Given the description of an element on the screen output the (x, y) to click on. 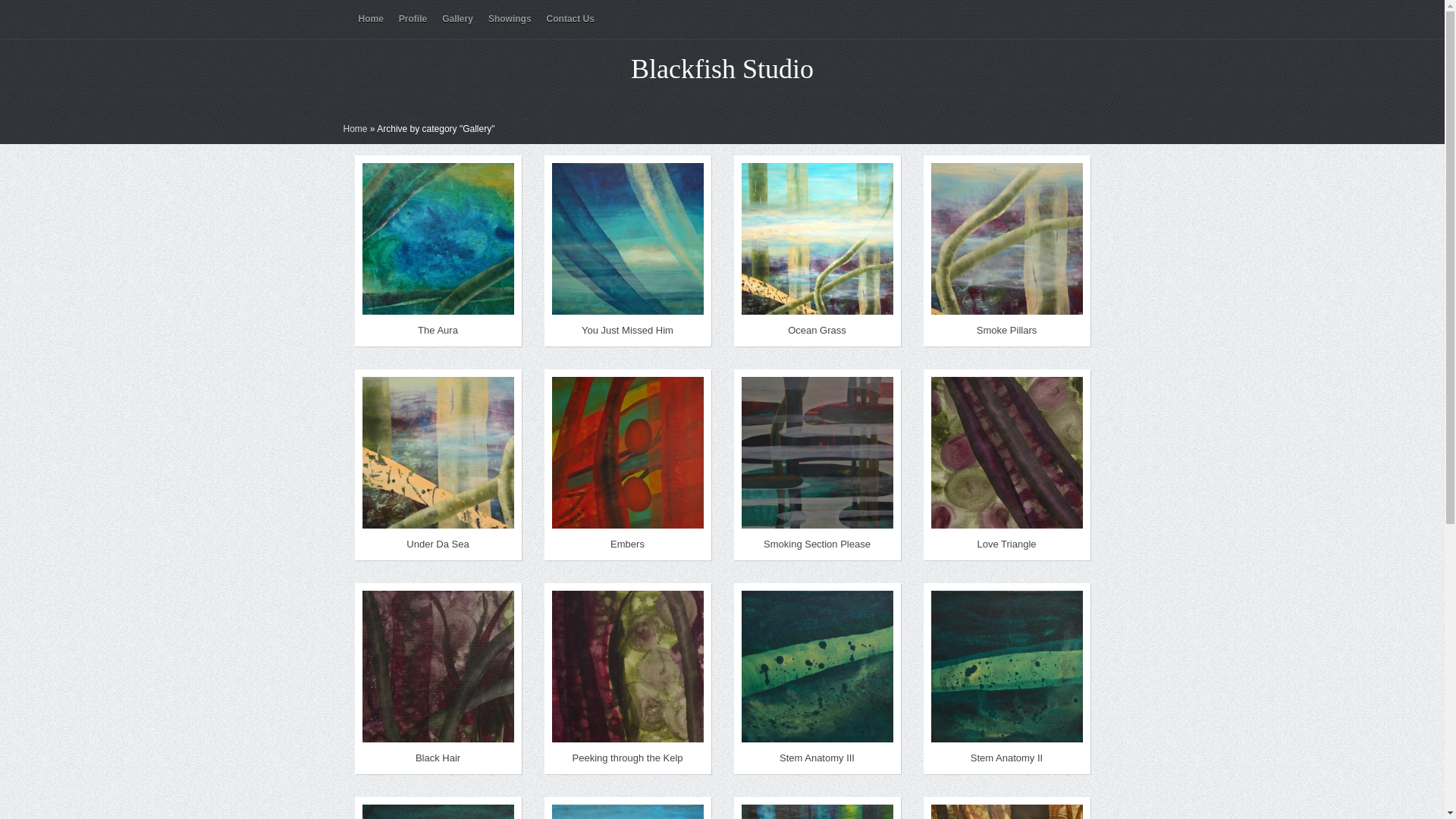
Black Hair Element type: text (437, 757)
The Aura Element type: text (437, 329)
Profile Element type: text (412, 18)
Smoking Section Please Element type: text (816, 543)
Embers Element type: text (627, 543)
You Just Missed Him Element type: text (627, 329)
Under Da Sea Element type: text (437, 543)
Peeking through the Kelp Element type: text (626, 757)
Home Element type: text (354, 128)
Smoke Pillars Element type: text (1006, 329)
Ocean Grass Element type: text (816, 329)
Home Element type: text (370, 18)
Stem Anatomy II Element type: text (1006, 757)
Gallery Element type: text (457, 18)
Stem Anatomy III Element type: text (816, 757)
Blackfish Studio Element type: text (721, 68)
Love Triangle Element type: text (1005, 543)
Contact Us Element type: text (570, 18)
Showings Element type: text (509, 18)
